Given the description of an element on the screen output the (x, y) to click on. 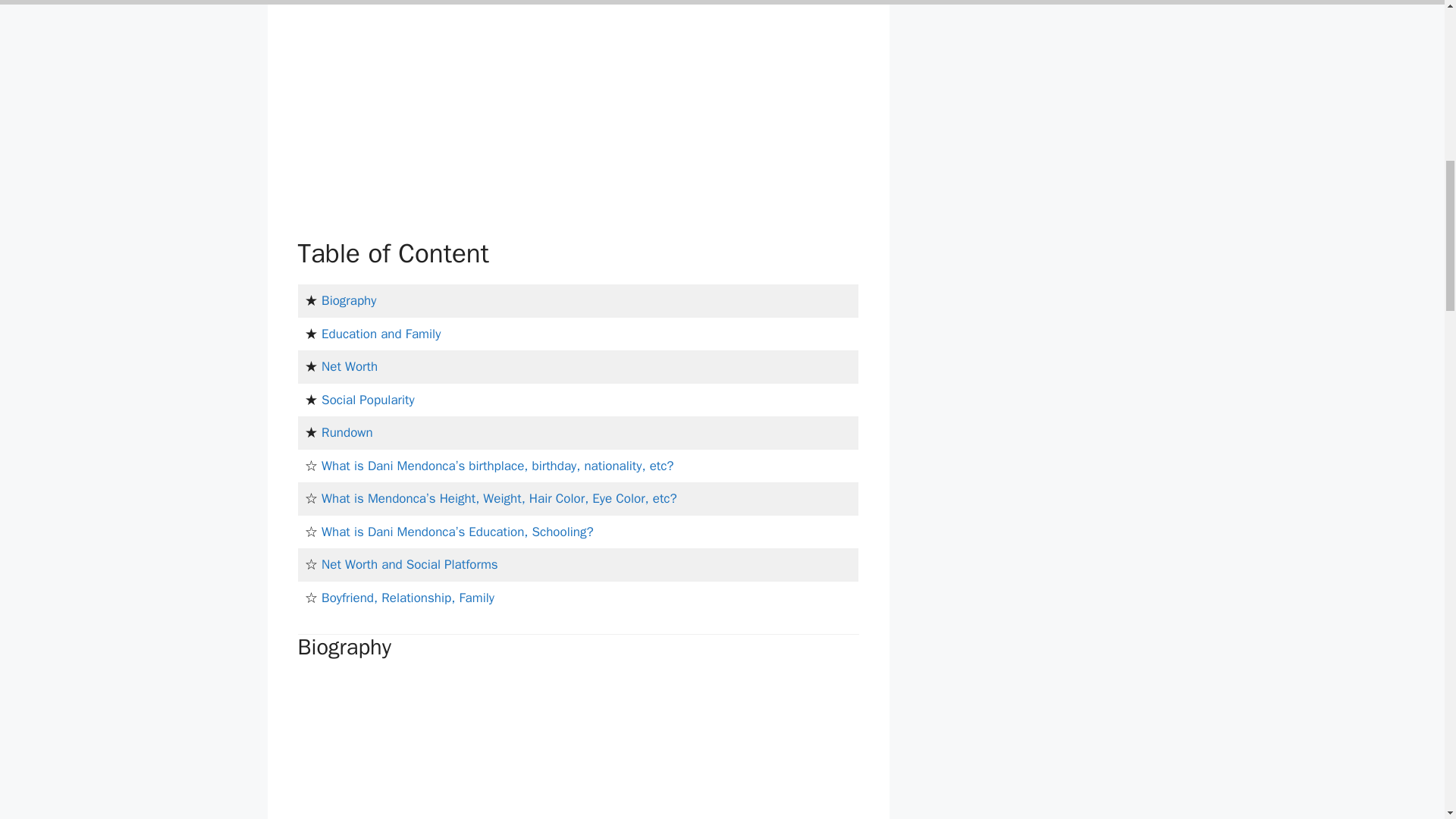
Boyfriend, Relationship, Family (408, 597)
Dani Mendonca 3 (460, 747)
Education and Family (381, 333)
Net Worth (349, 366)
Social Popularity (367, 399)
Dani Mendonca 2 (460, 118)
Biography (348, 300)
Net Worth and Social Platforms (409, 564)
Rundown (346, 432)
